Given the description of an element on the screen output the (x, y) to click on. 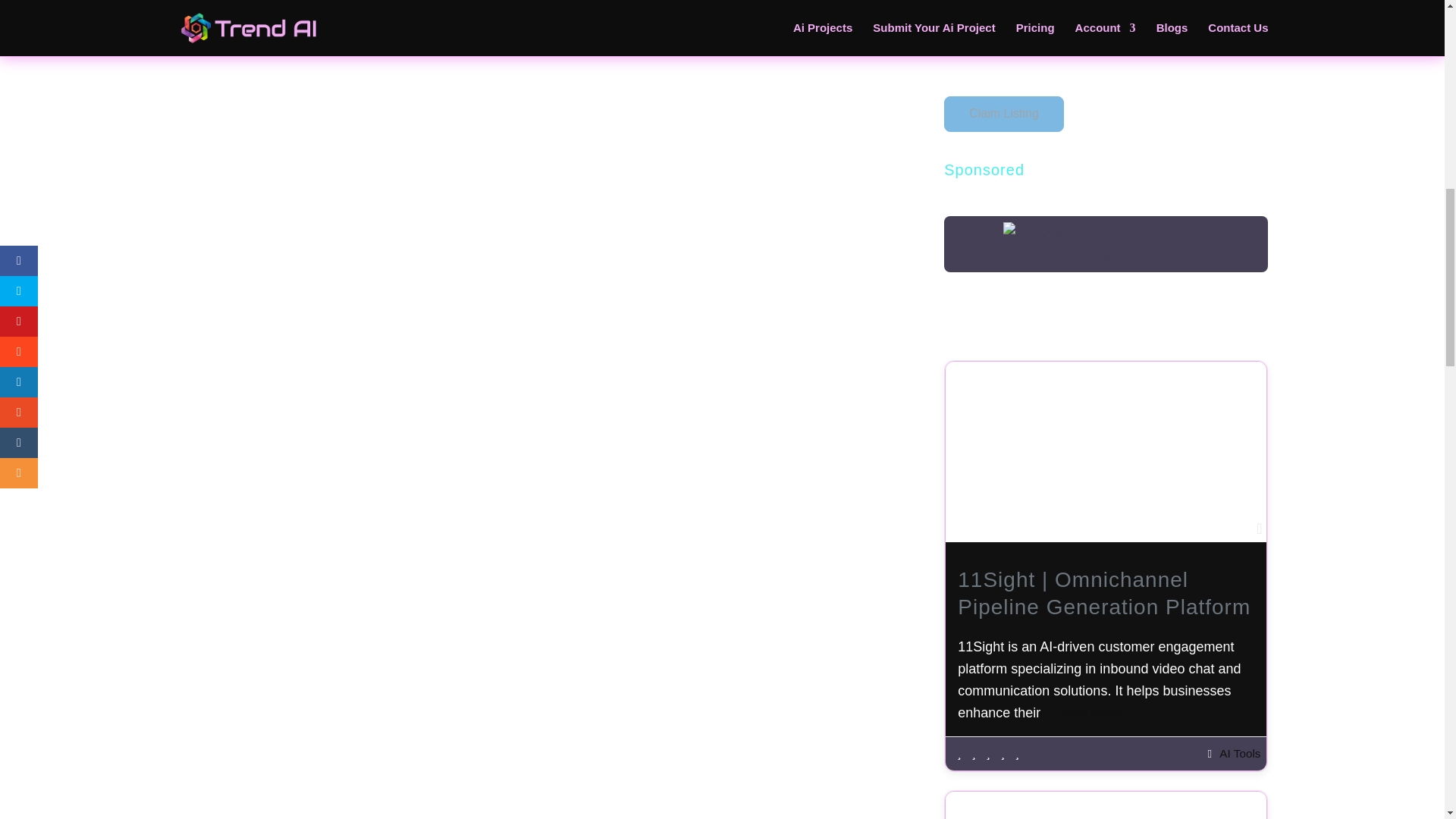
... read more (1082, 712)
AI Tools (1240, 753)
Advertise Here (1106, 254)
Search (1249, 11)
Claim Listing (1003, 113)
